Given the description of an element on the screen output the (x, y) to click on. 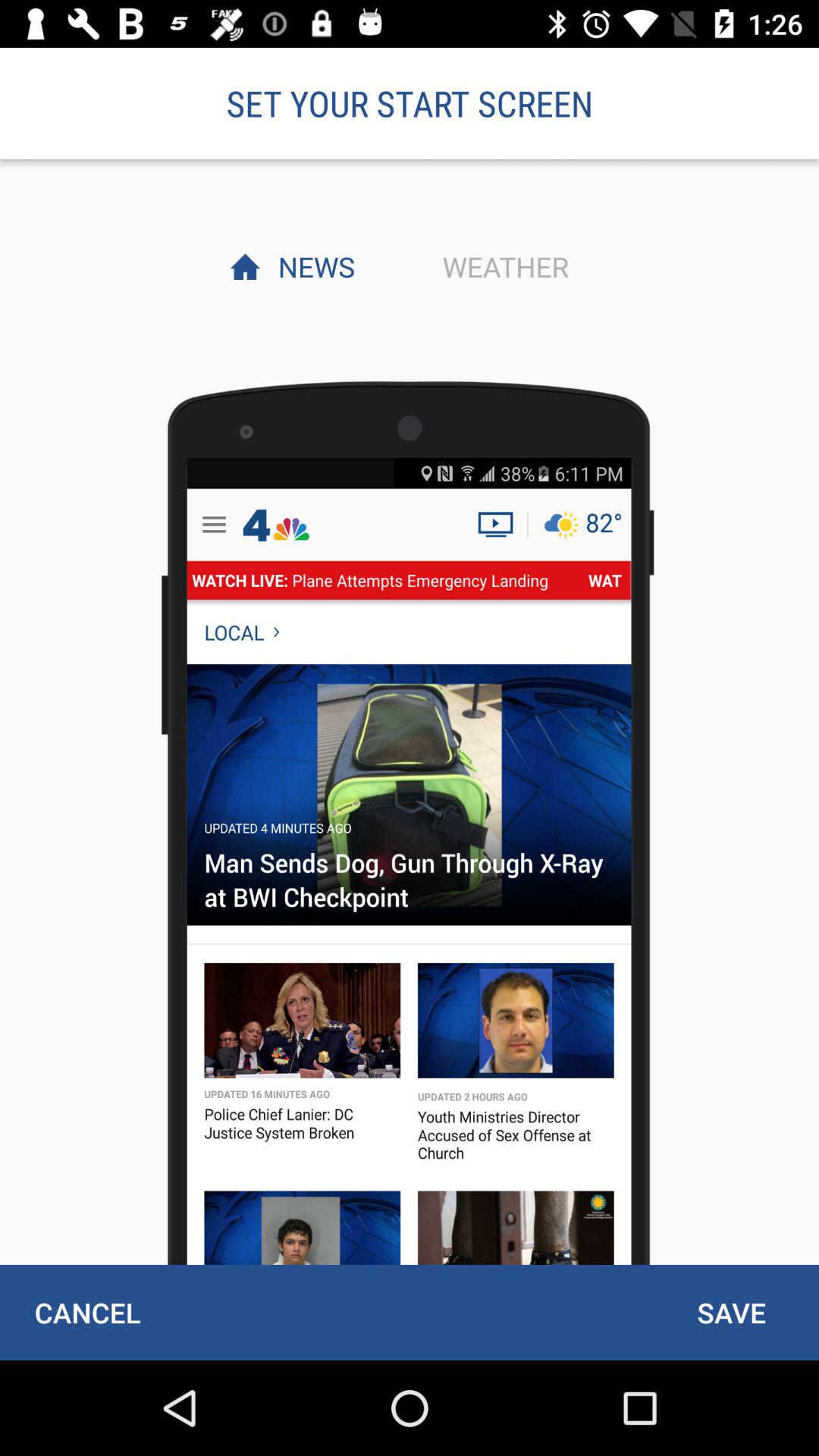
turn on the set your start item (409, 103)
